Given the description of an element on the screen output the (x, y) to click on. 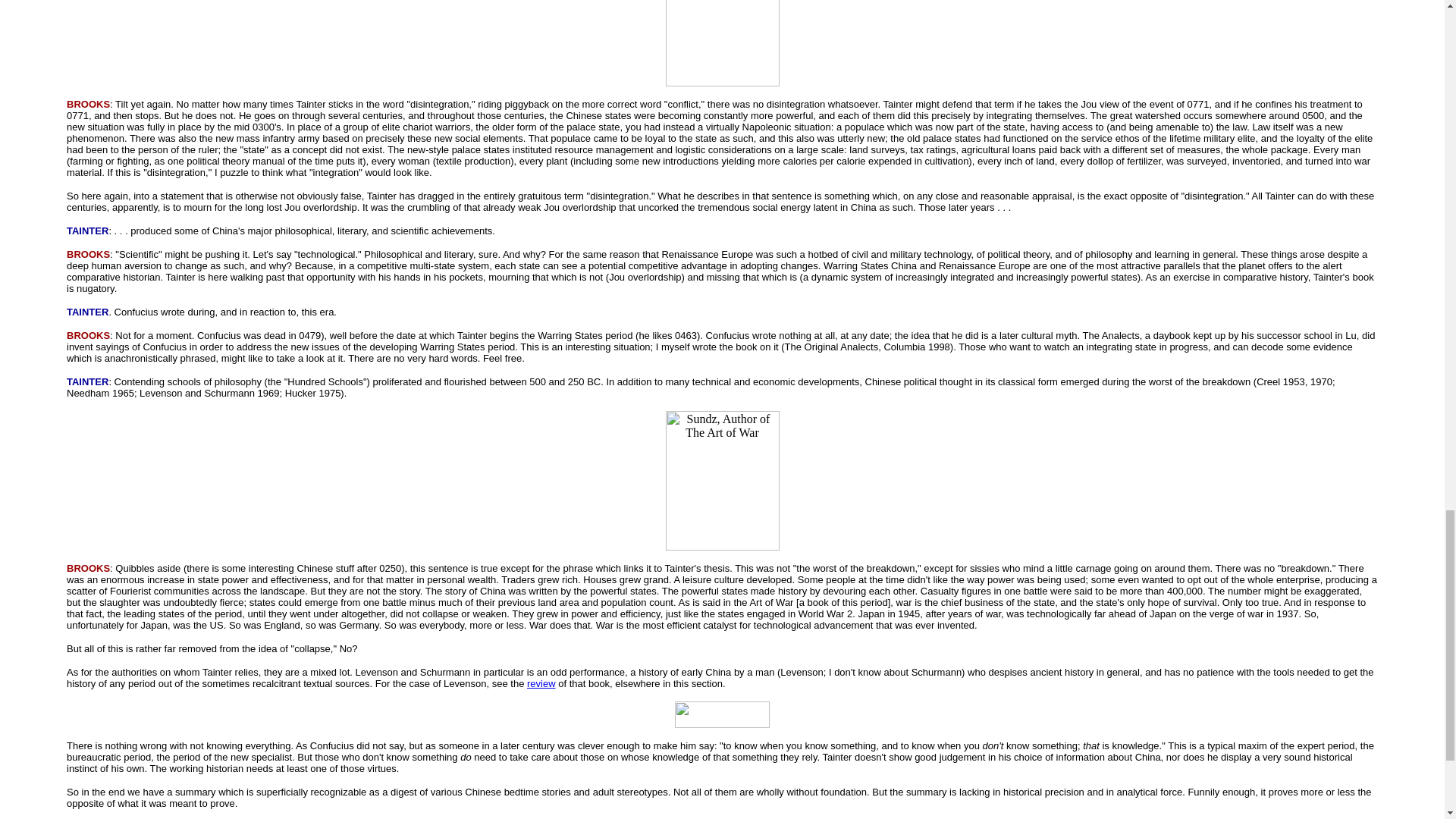
review (541, 683)
